Given the description of an element on the screen output the (x, y) to click on. 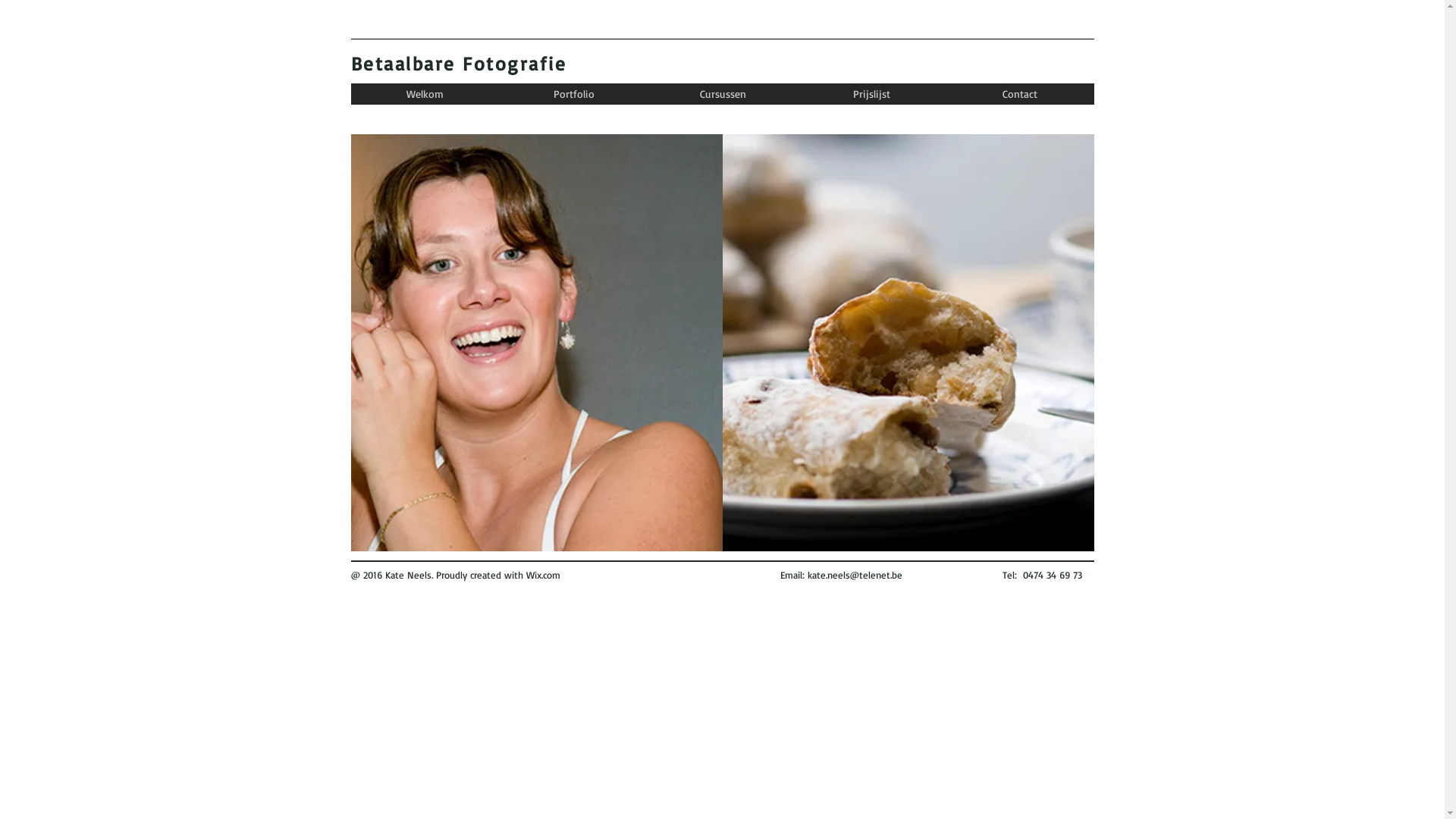
Wix.com Element type: text (543, 574)
kate.neels@telenet.be Element type: text (853, 574)
Cursussen Element type: text (721, 93)
Welkom Element type: text (424, 93)
Prijslijst Element type: text (870, 93)
Contact Element type: text (1018, 93)
